Given the description of an element on the screen output the (x, y) to click on. 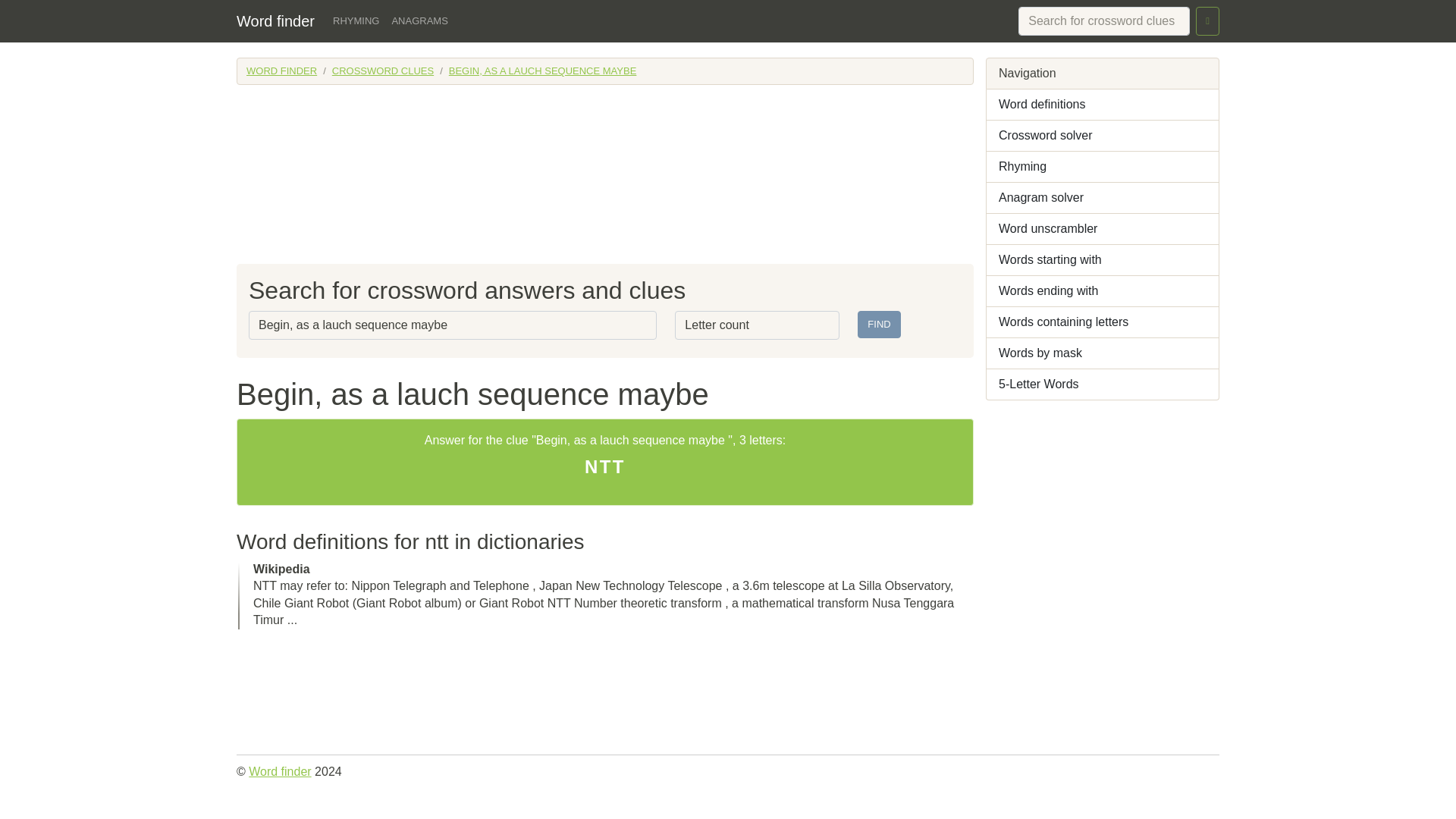
Words starting with (1102, 260)
Anagram solver (1102, 197)
Word definitions (1102, 104)
BEGIN, AS A LAUCH SEQUENCE MAYBE (542, 70)
Words containing letters (1102, 322)
Begin, as a lauch sequence maybe (452, 325)
CROSSWORD CLUES (382, 70)
SEARCH (1207, 21)
Crossword solver (1102, 135)
ANAGRAMS (418, 21)
Word unscrambler (1102, 228)
Words ending with (1102, 291)
FIND (878, 324)
WORD FINDER (281, 70)
5-Letter Words (1102, 384)
